Given the description of an element on the screen output the (x, y) to click on. 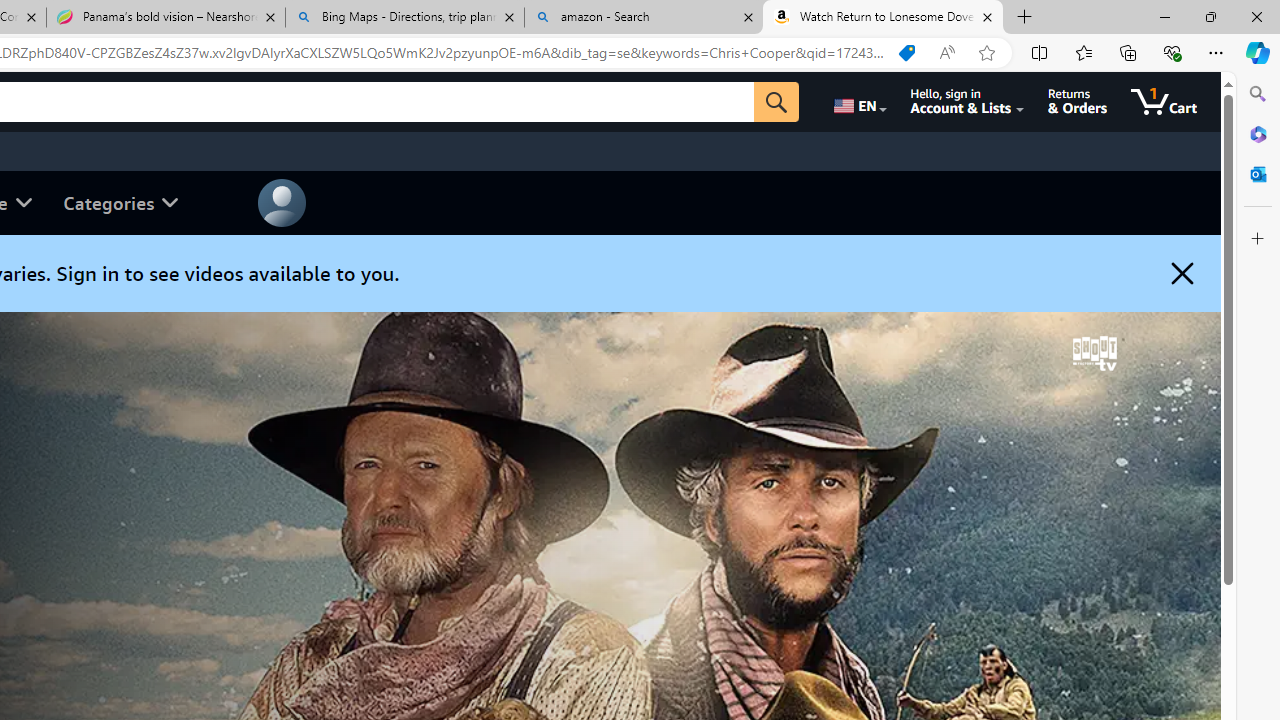
Categories (120, 202)
amazon - Search (643, 17)
Returns & Orders (1077, 101)
Class: bBPMYR CesUY3 GoanCL f11d1lkh (281, 202)
Shopping in Microsoft Edge (906, 53)
Channel logo (1094, 353)
Choose a language for shopping. (858, 101)
Categories (120, 202)
